Given the description of an element on the screen output the (x, y) to click on. 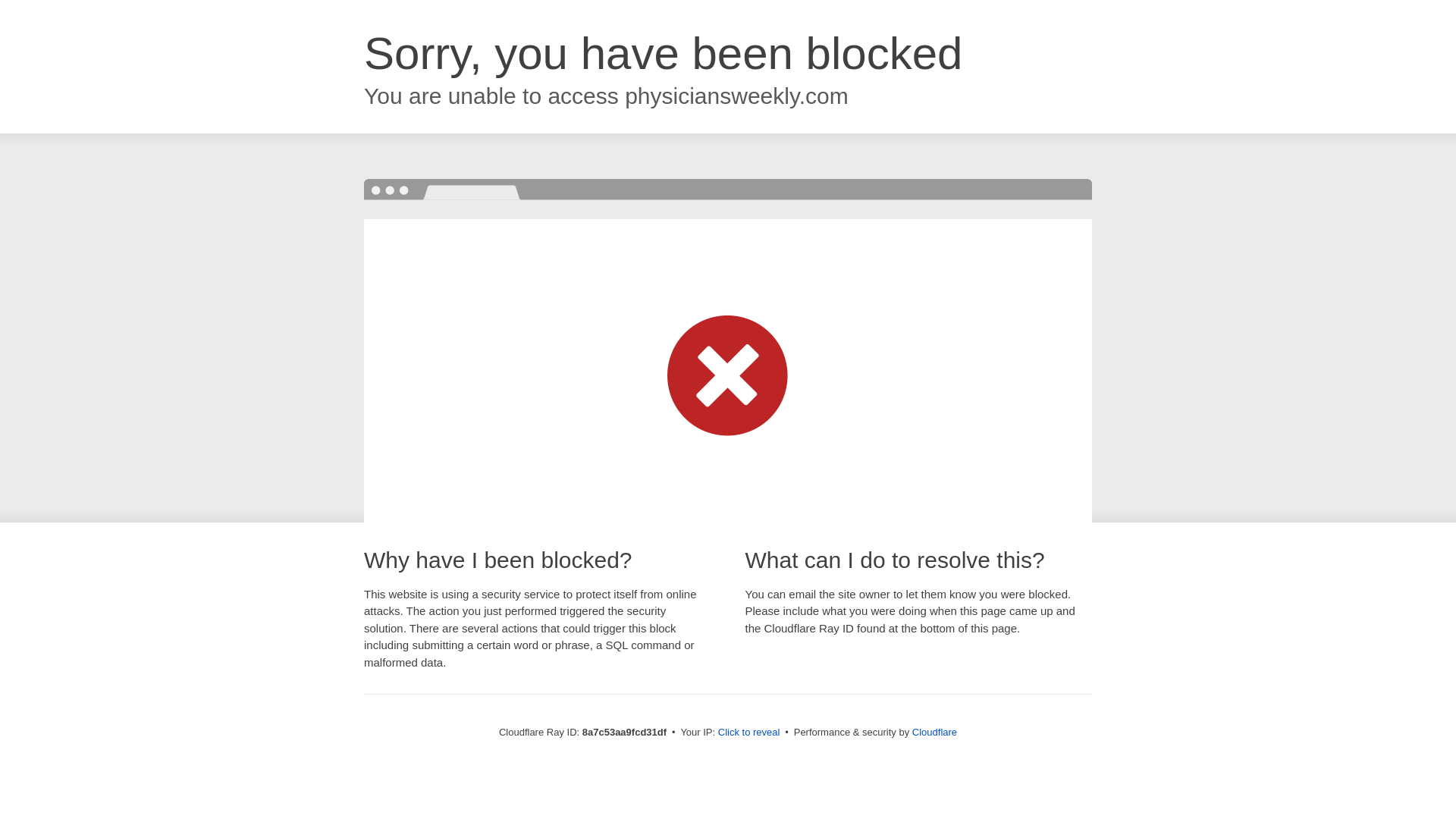
Cloudflare (934, 731)
Click to reveal (748, 732)
